Given the description of an element on the screen output the (x, y) to click on. 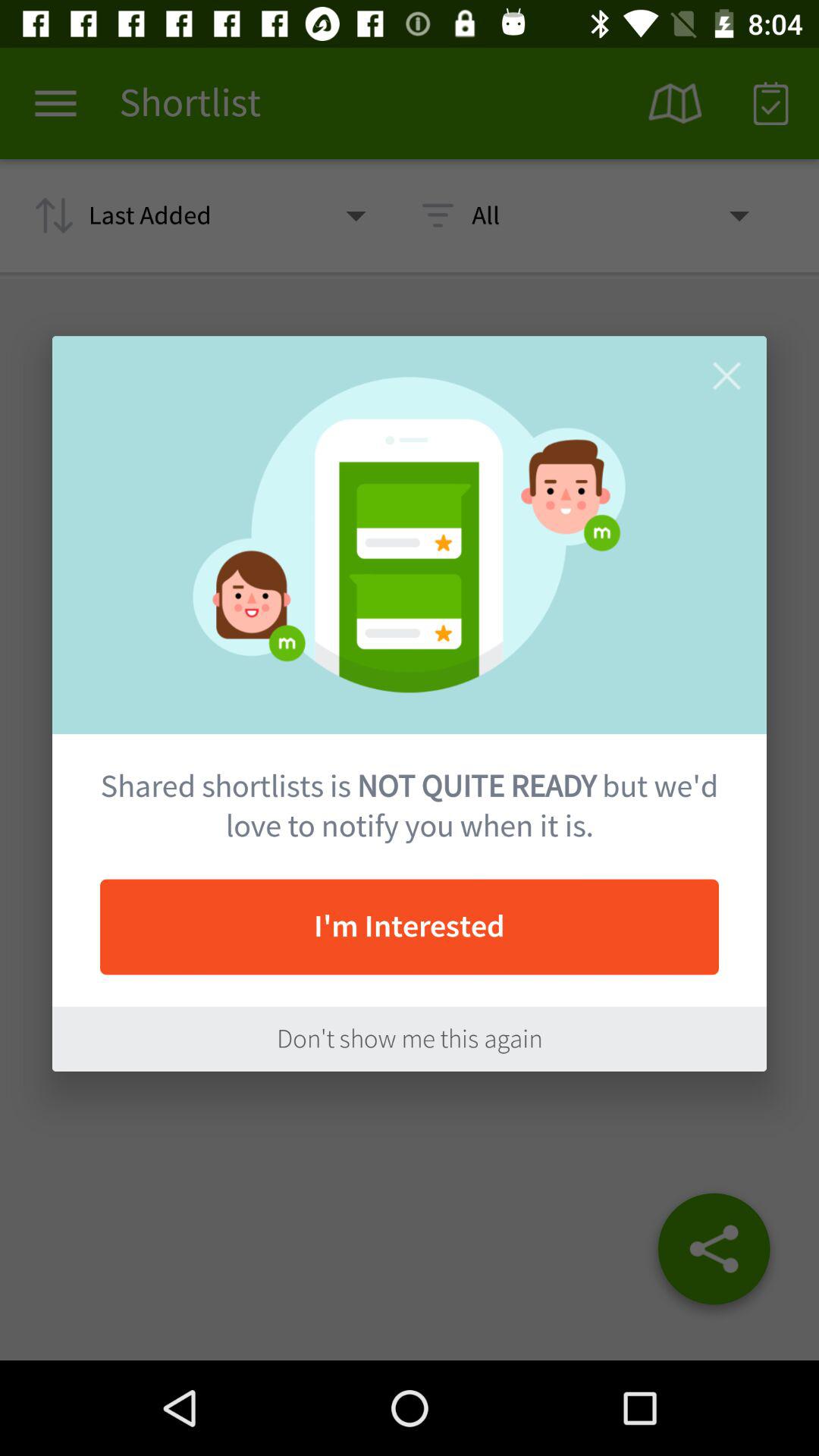
turn off the item below i'm interested item (409, 1038)
